Given the description of an element on the screen output the (x, y) to click on. 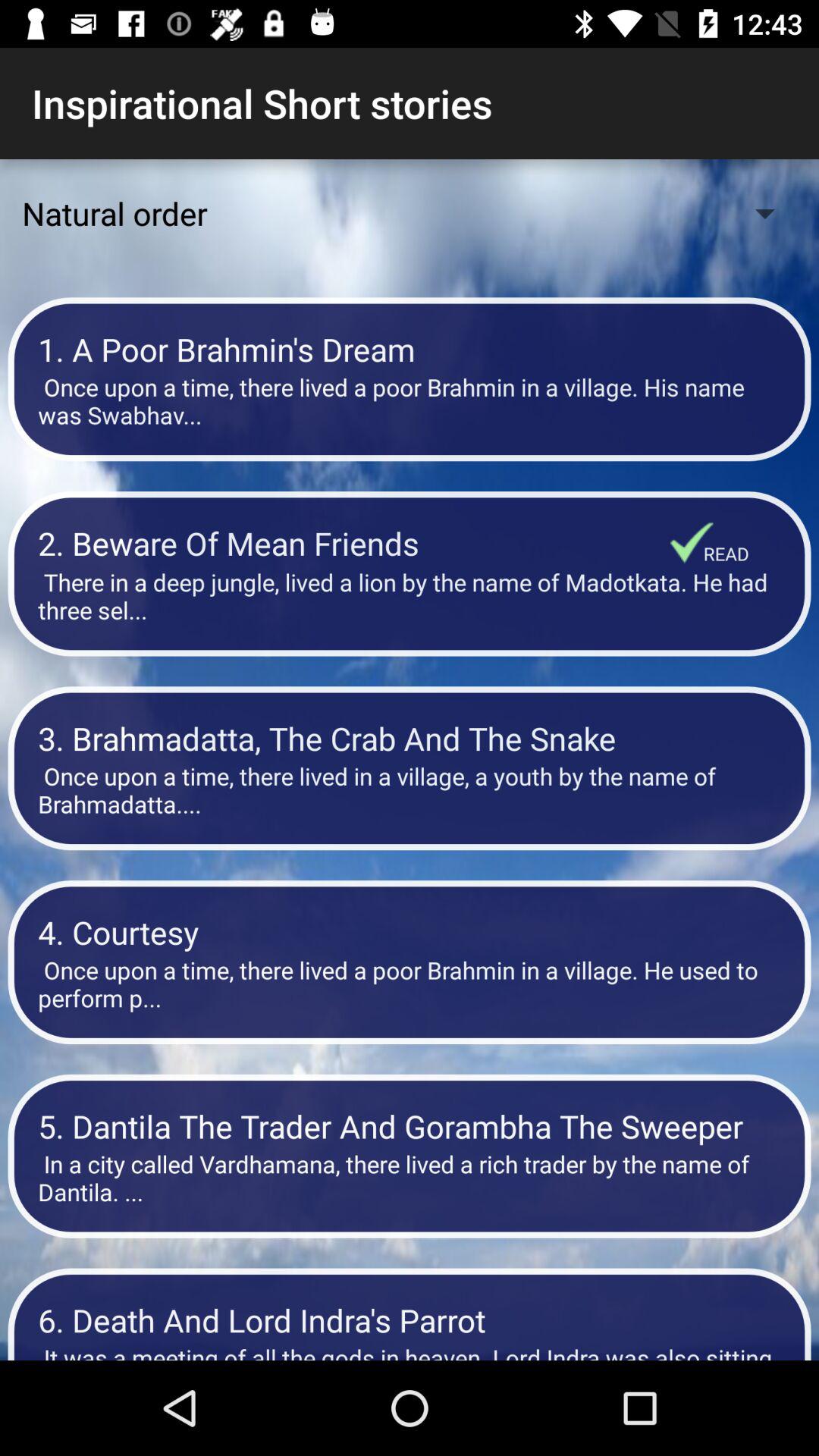
launch the item to the right of the 2 beware of (691, 542)
